Given the description of an element on the screen output the (x, y) to click on. 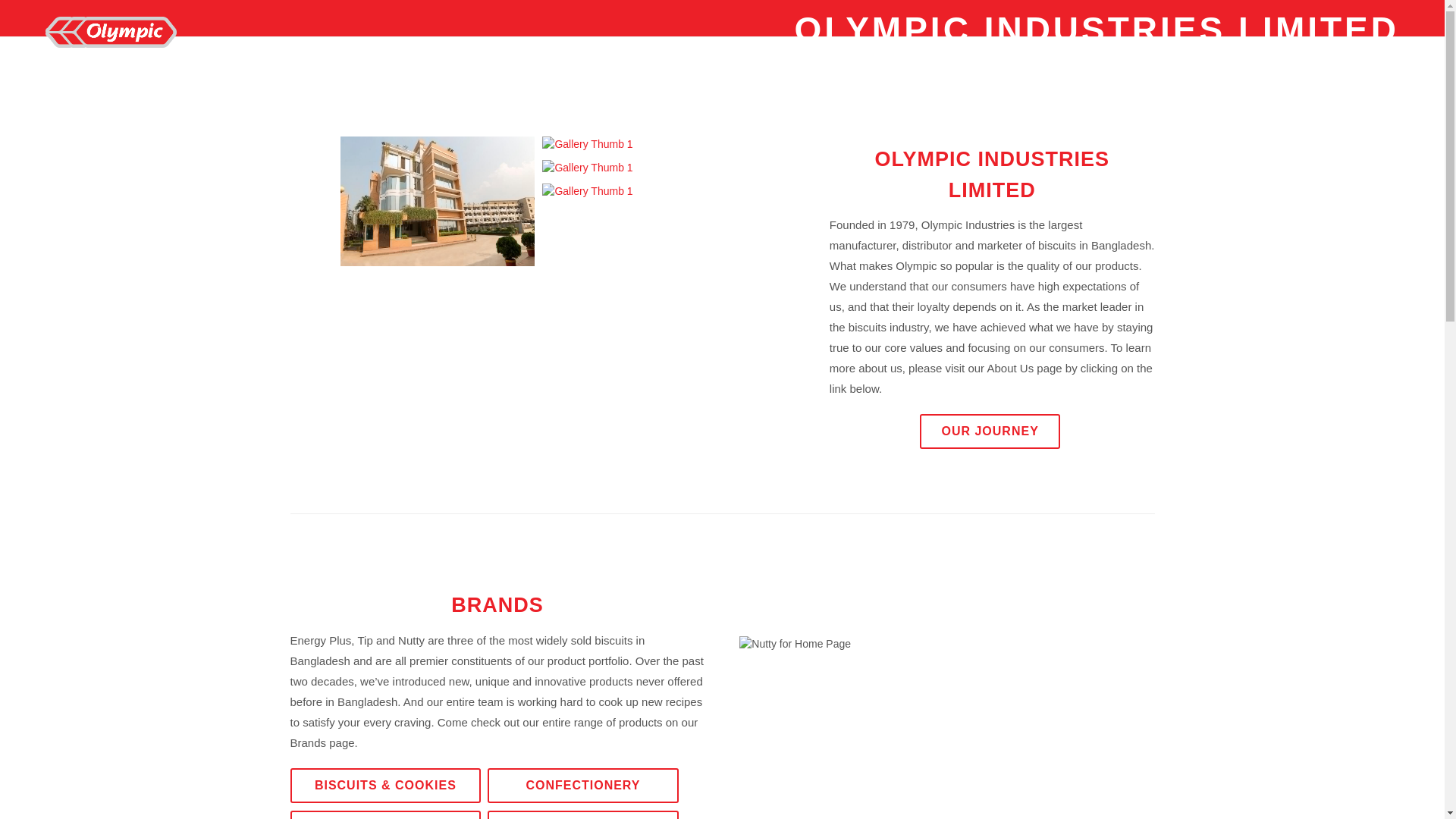
SUSTAINABILITY (950, 95)
INVESTORS (805, 95)
EXPORTS (1088, 95)
COMPANY (579, 95)
BATTERIES (582, 814)
OUR JOURNEY (989, 431)
CONFECTIONERY (582, 784)
CONTACT (1355, 95)
BAKERY (384, 814)
BRANDS (689, 95)
